Given the description of an element on the screen output the (x, y) to click on. 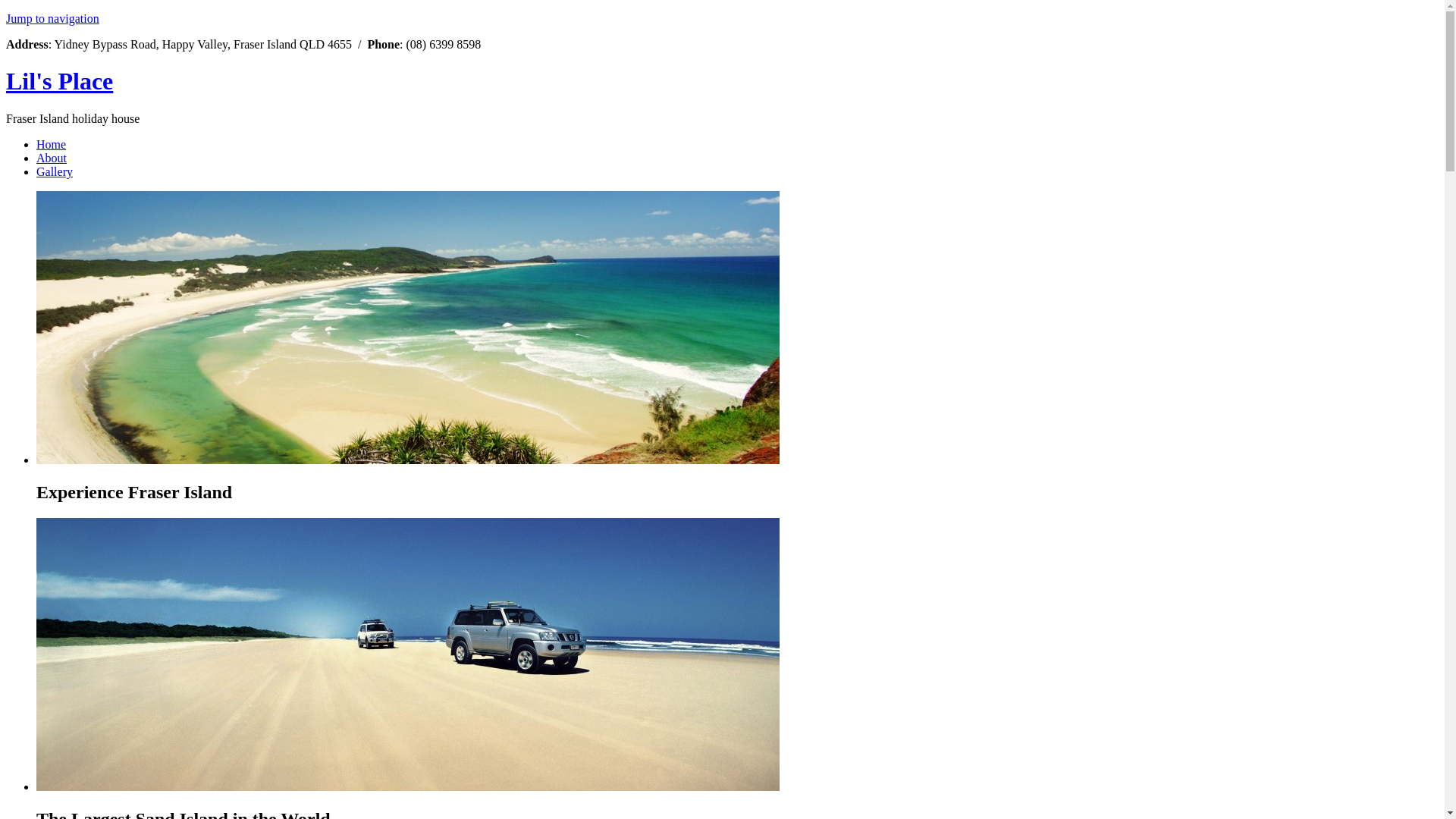
Lil's Place Element type: text (59, 80)
Jump to navigation Element type: text (52, 18)
Home Element type: text (50, 144)
About Element type: text (51, 157)
Gallery Element type: text (54, 171)
